Given the description of an element on the screen output the (x, y) to click on. 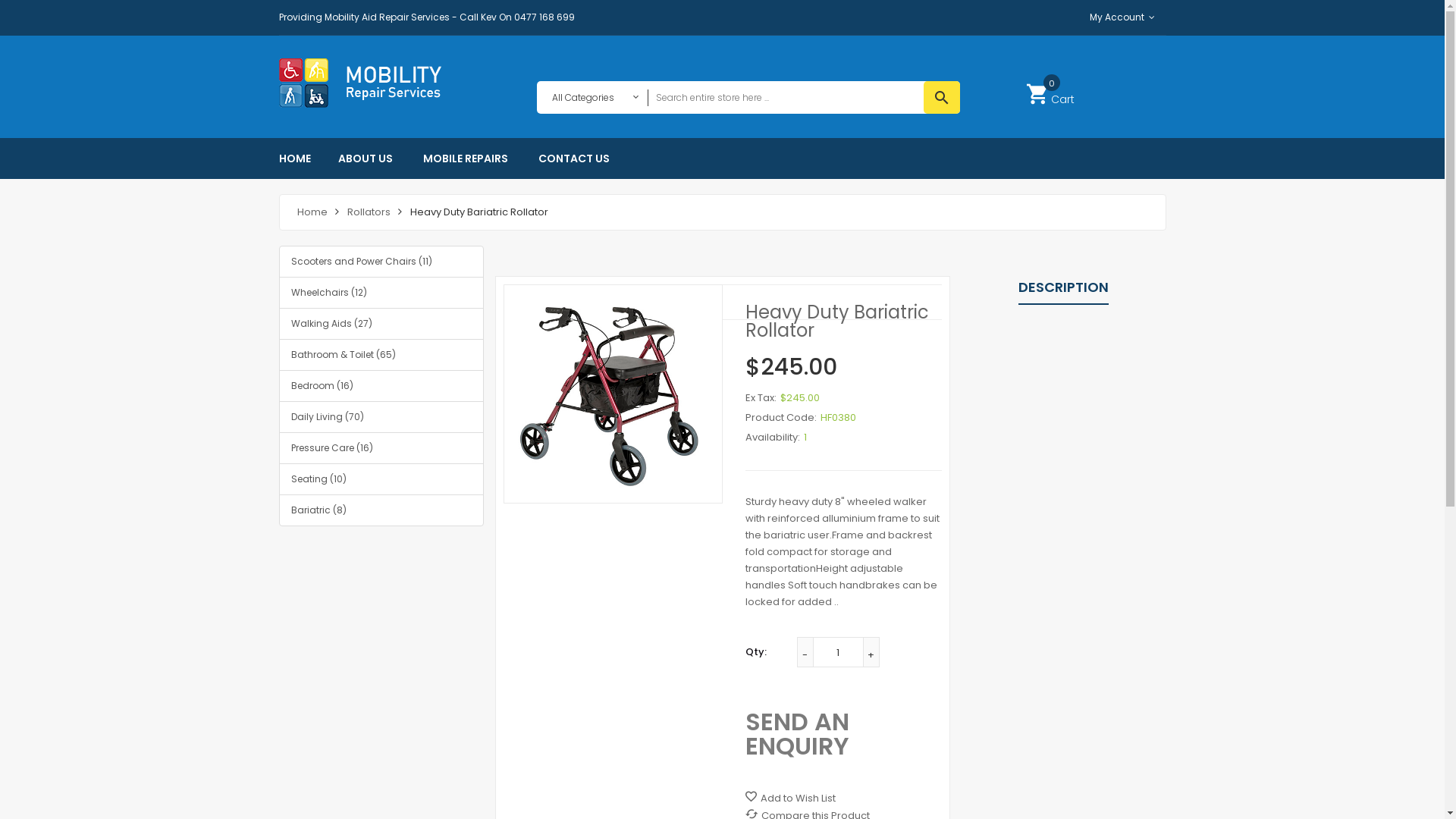
HOME Element type: text (301, 158)
MOBILE REPAIRS Element type: text (465, 158)
Bariatric (8) Element type: text (381, 510)
Walking Aids (27) Element type: text (381, 323)
Daily Living (70) Element type: text (381, 417)
Cart
0 Element type: text (1050, 94)
ABOUT US Element type: text (365, 158)
Bedroom (16) Element type: text (381, 385)
SEND AN ENQUIRY Element type: text (796, 733)
Bathroom & Toilet (65) Element type: text (381, 354)
Mobility Repair Services Element type: hover (373, 82)
Wheelchairs (12) Element type: text (381, 292)
Heavy Duty Bariatric Rollator Element type: text (478, 211)
Rollators Element type: text (368, 211)
Heavy Duty Bariatric Rollator Element type: hover (612, 393)
Scooters and Power Chairs (11) Element type: text (381, 261)
Pressure Care (16) Element type: text (381, 448)
Add to Wish List Element type: text (789, 797)
DESCRIPTION Element type: text (1063, 287)
Seating (10) Element type: text (381, 479)
CONTACT US Element type: text (573, 158)
Home Element type: text (312, 211)
My Account Element type: text (1119, 17)
Heavy Duty Bariatric Rollator Element type: hover (612, 393)
